Given the description of an element on the screen output the (x, y) to click on. 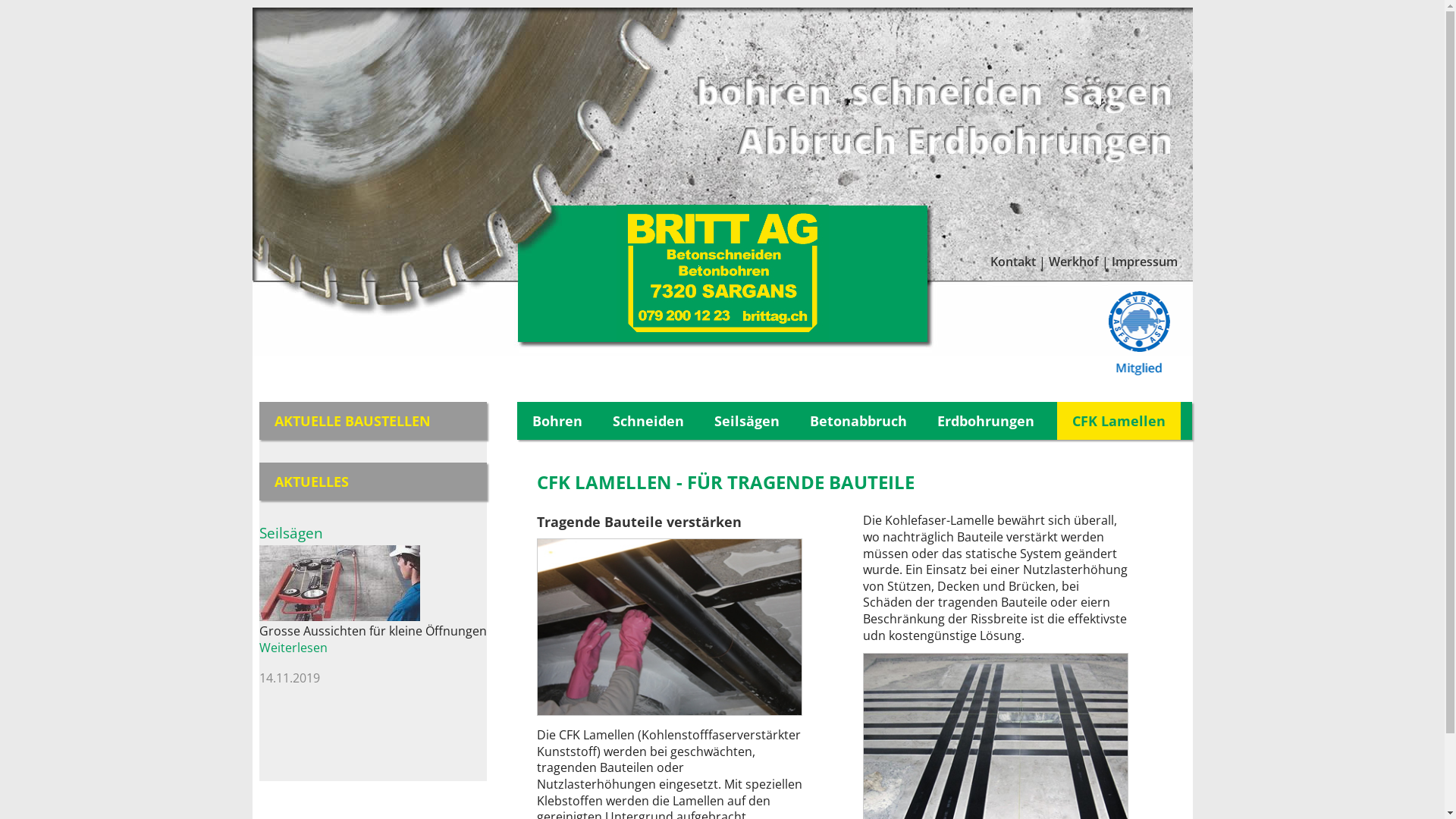
Impressum Element type: text (1144, 261)
Erdbohrungen Element type: text (985, 420)
Bohren Element type: text (557, 420)
Kontakt Element type: text (1012, 261)
CFK Lamellen Element type: text (1118, 420)
Betonabbruch Element type: text (858, 420)
AKTUELLE BAUSTELLEN Element type: text (352, 420)
Weiterlesen Element type: text (293, 647)
Schneiden Element type: text (648, 420)
Werkhof Element type: text (1073, 261)
